Given the description of an element on the screen output the (x, y) to click on. 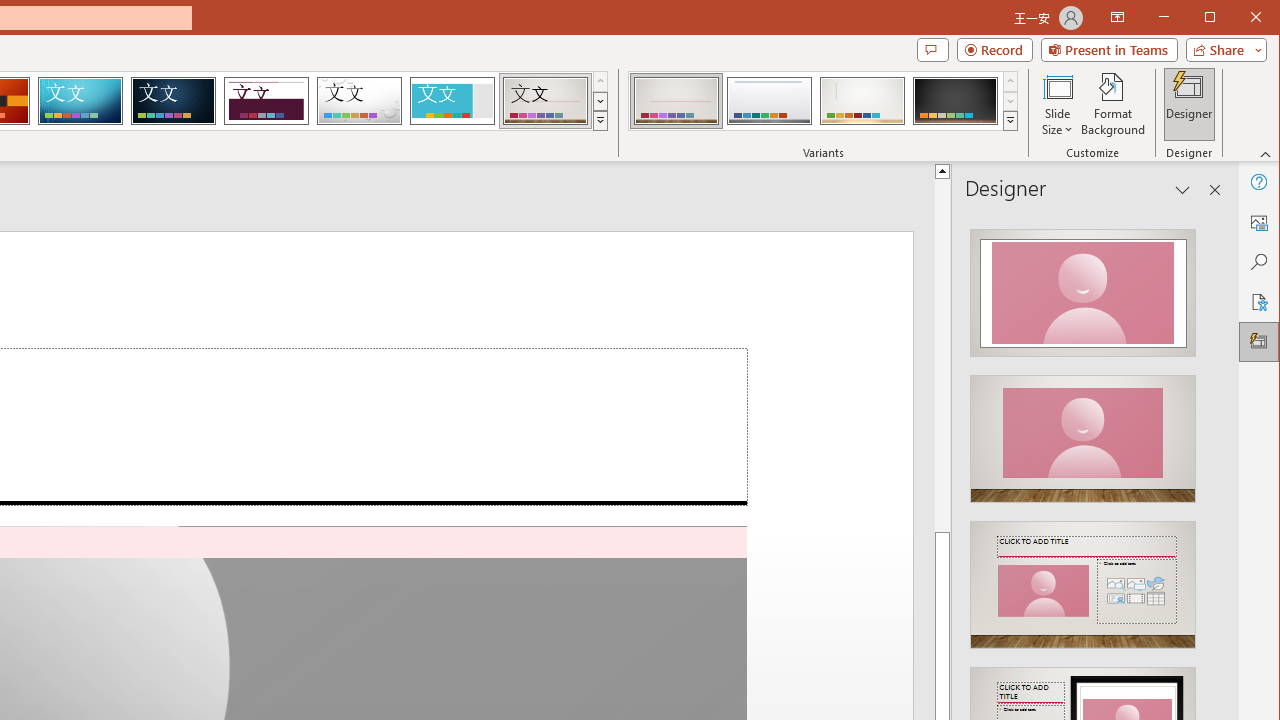
Gallery Variant 2 (769, 100)
Slide Size (1057, 104)
Design Idea (1082, 579)
Gallery Variant 1 (676, 100)
Themes (600, 120)
Gallery Variant 3 (862, 100)
Designer (1258, 341)
Format Background (1113, 104)
